Given the description of an element on the screen output the (x, y) to click on. 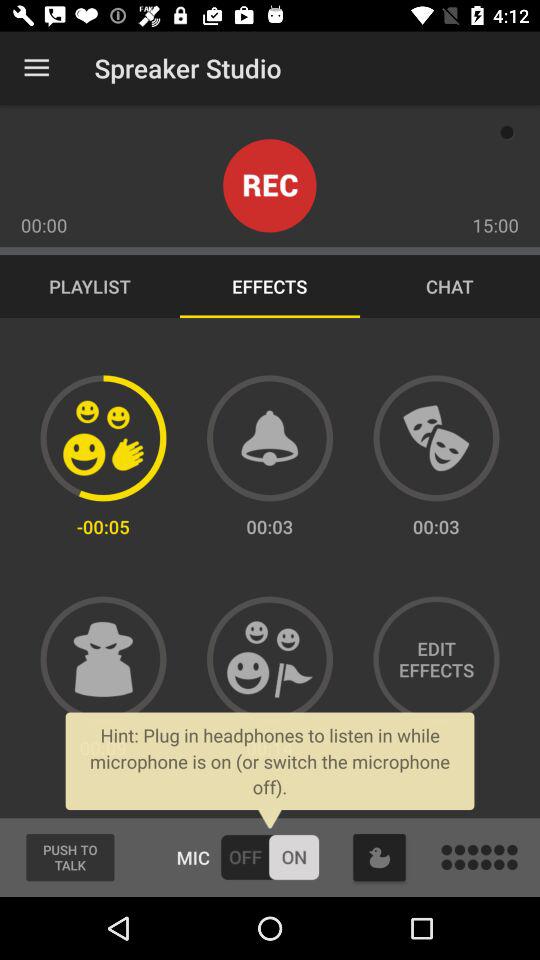
record sound (269, 185)
